Given the description of an element on the screen output the (x, y) to click on. 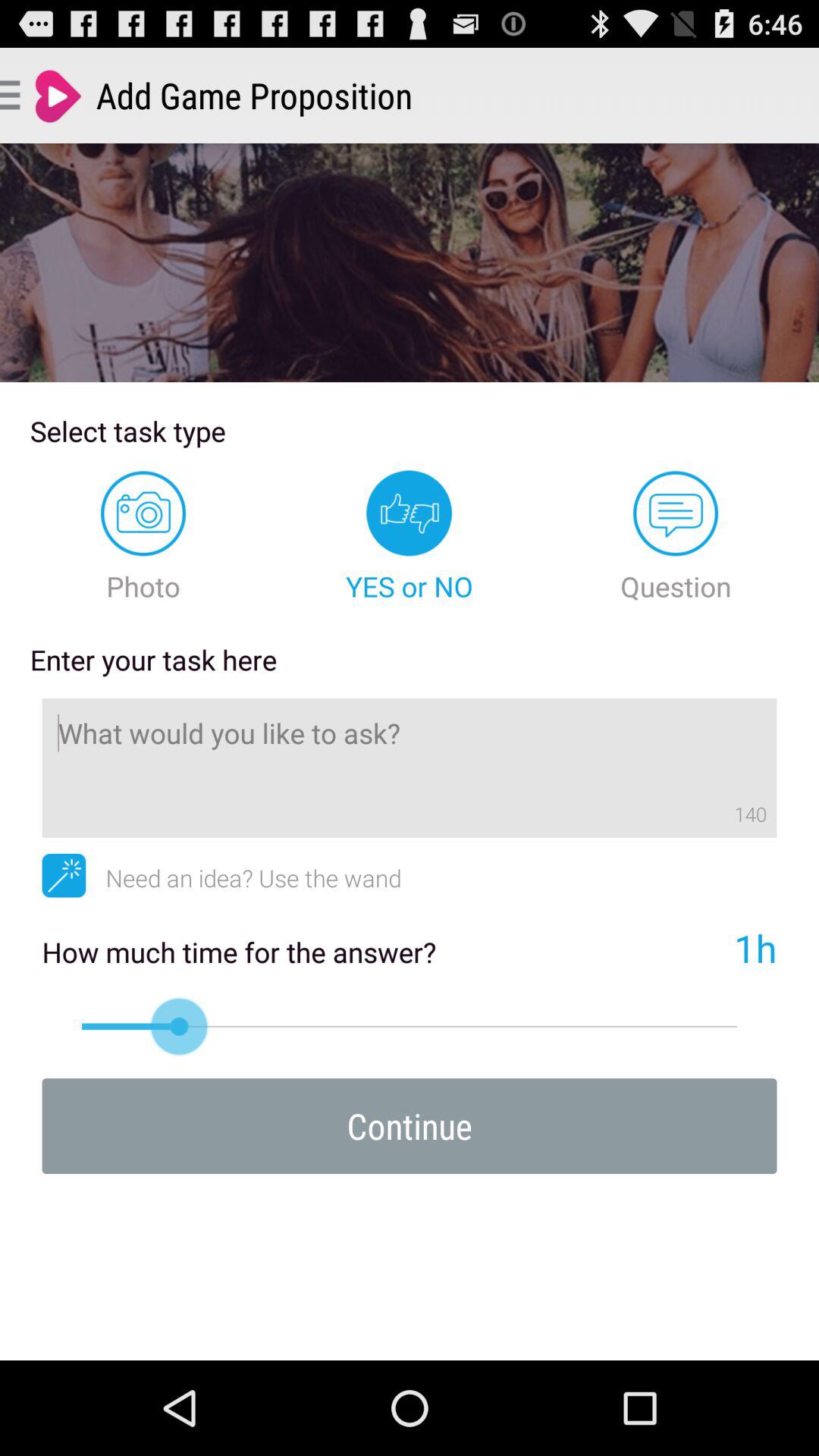
click item below the select task type app (143, 537)
